Given the description of an element on the screen output the (x, y) to click on. 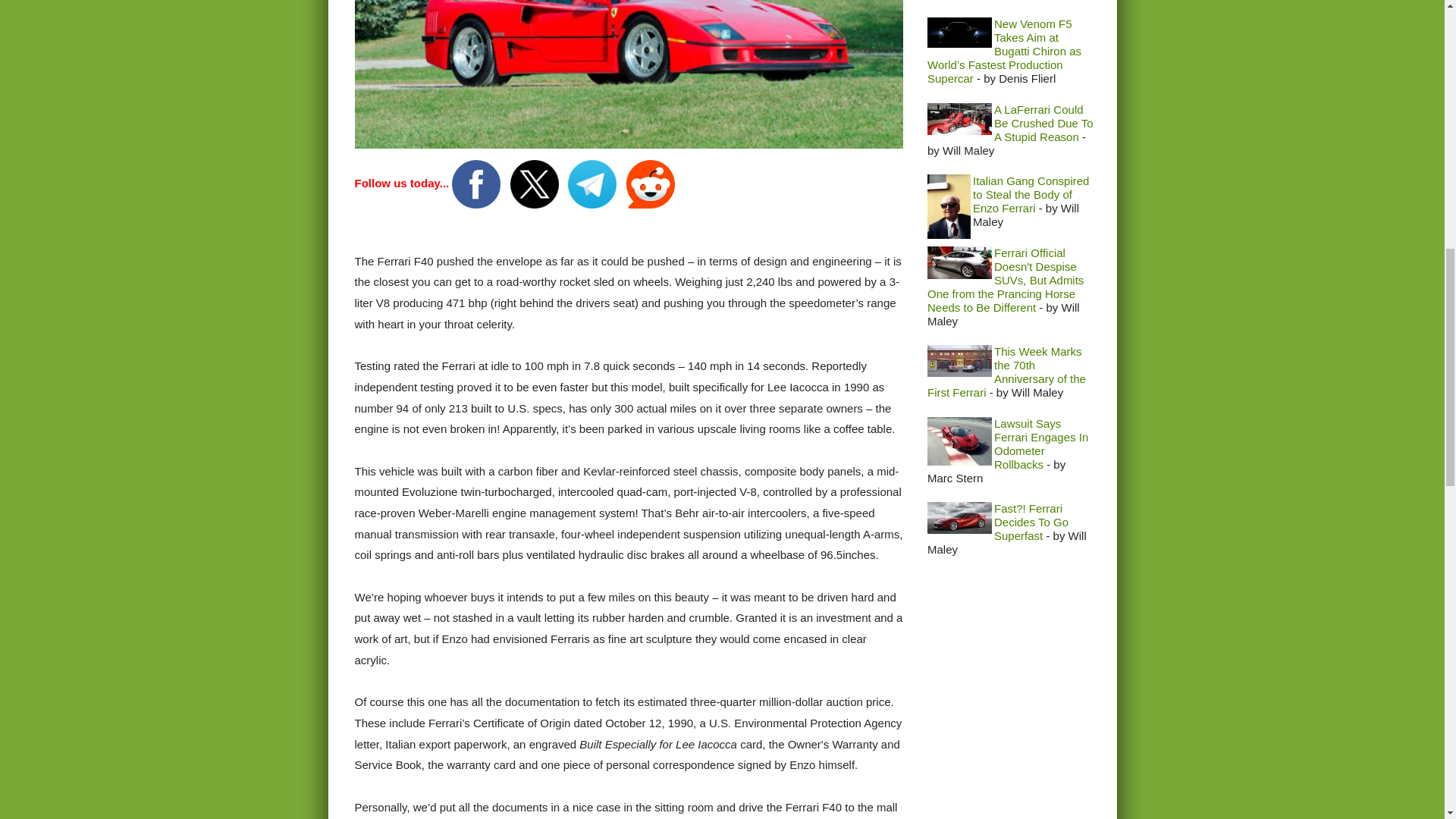
Join us on Reddit! (650, 182)
Join us on Telegram! (593, 182)
